Given the description of an element on the screen output the (x, y) to click on. 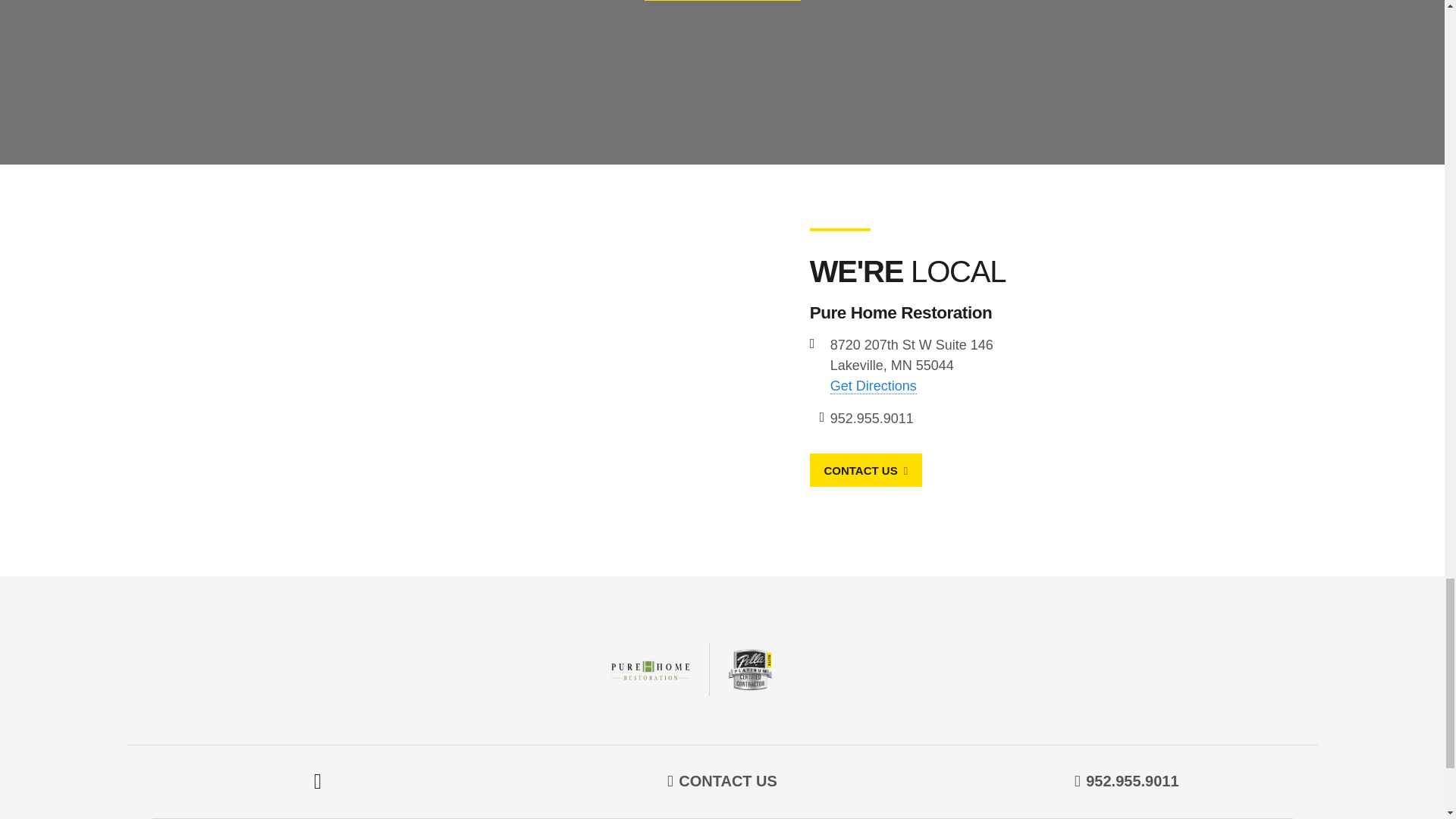
CONTACT US (865, 469)
Pure Home Restoration (722, 669)
Get Directions (873, 385)
952.955.9011 (871, 418)
